Given the description of an element on the screen output the (x, y) to click on. 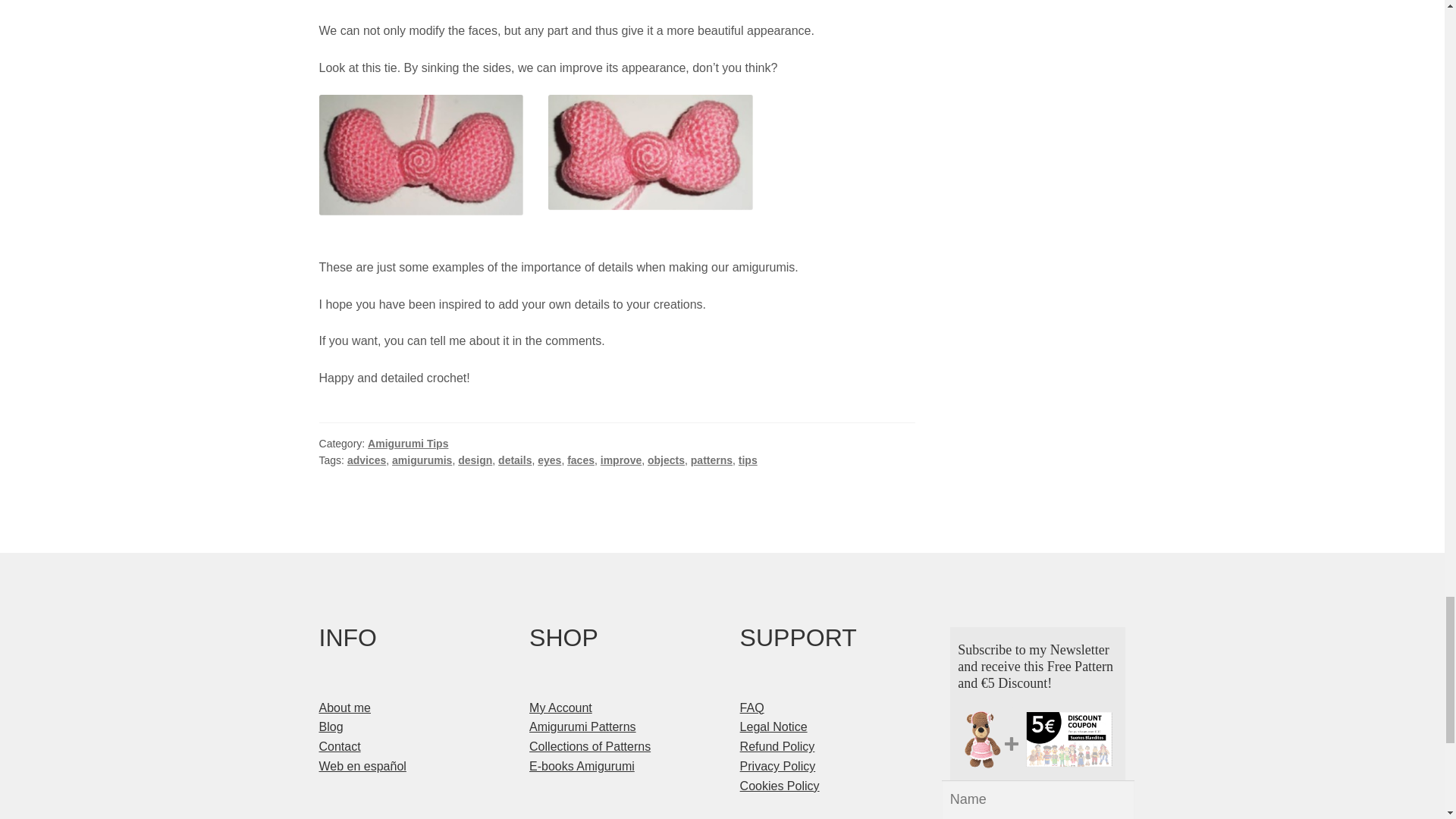
Amigurumi Tips (408, 443)
